Given the description of an element on the screen output the (x, y) to click on. 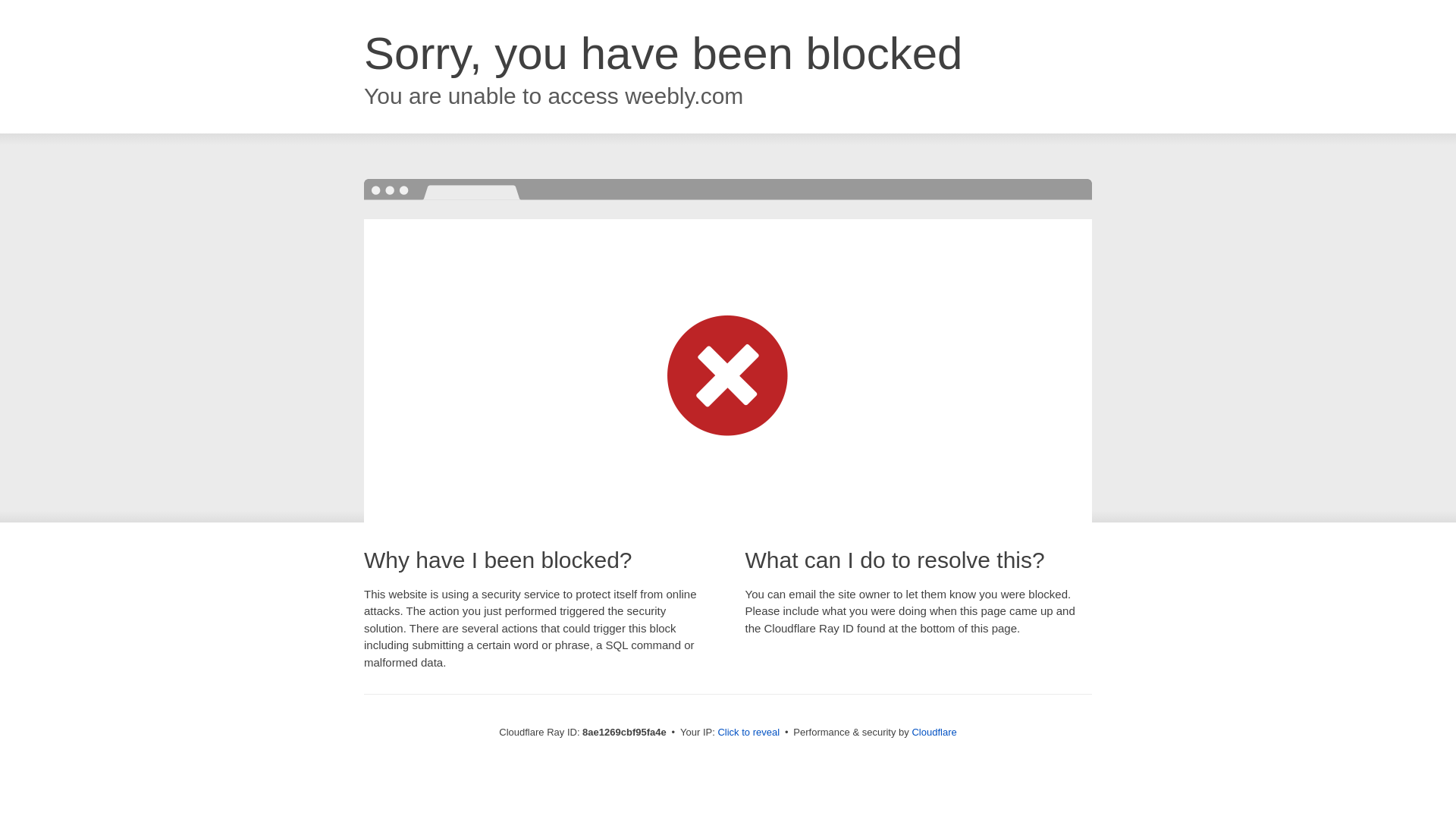
Cloudflare (933, 731)
Click to reveal (747, 732)
